Given the description of an element on the screen output the (x, y) to click on. 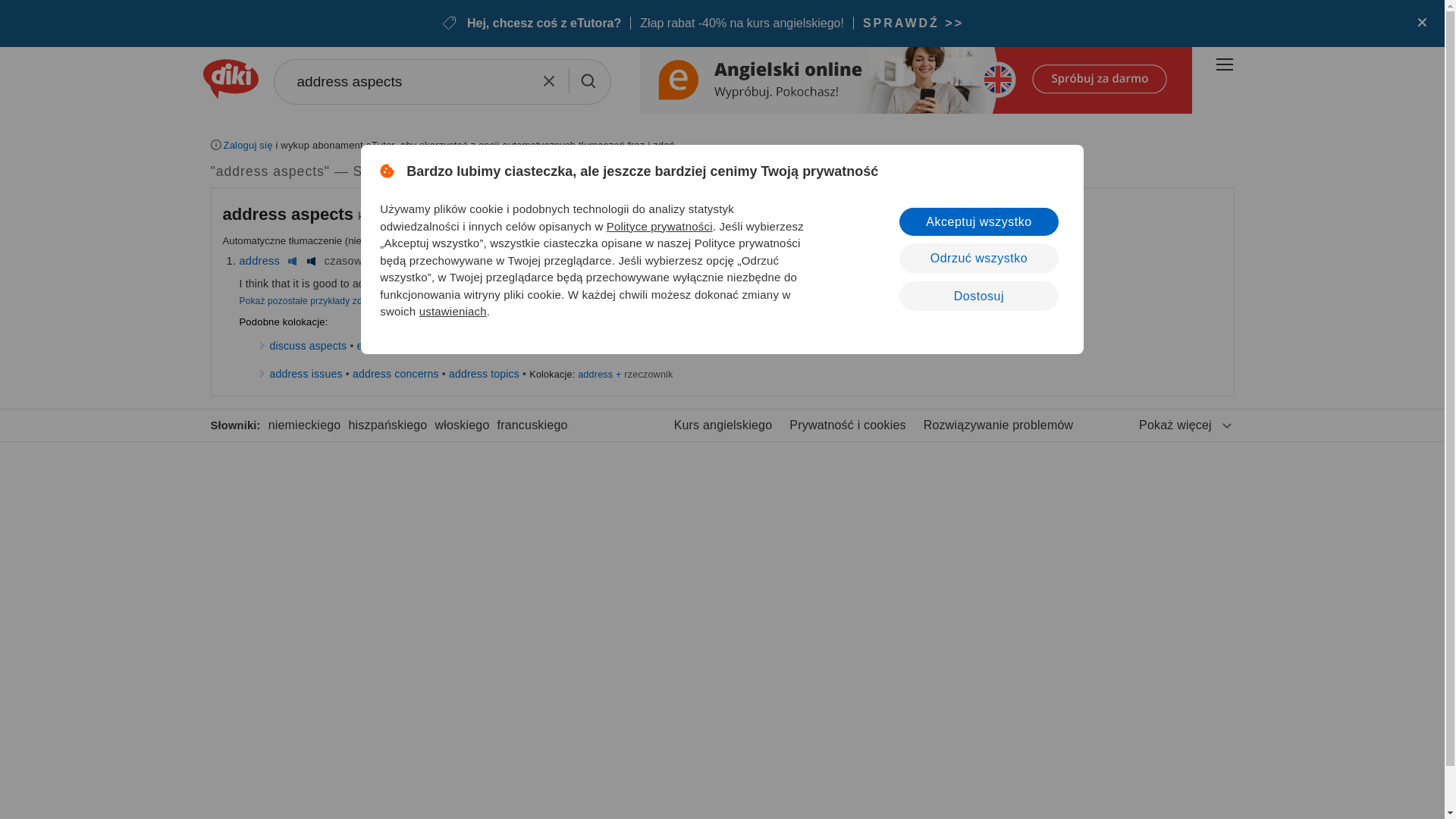
Uwaga: kolokacja wygenerowana automatycznie. (290, 213)
address aspects (441, 81)
address issues (305, 373)
American English (454, 260)
British English (291, 260)
address (260, 260)
address aspects (287, 213)
Szukaj (587, 80)
aspect (406, 260)
address topics (483, 373)
discuss aspects (308, 345)
explore aspects (394, 345)
Akceptuj wszystko (978, 221)
Dostosuj (978, 296)
American English (310, 260)
